Given the description of an element on the screen output the (x, y) to click on. 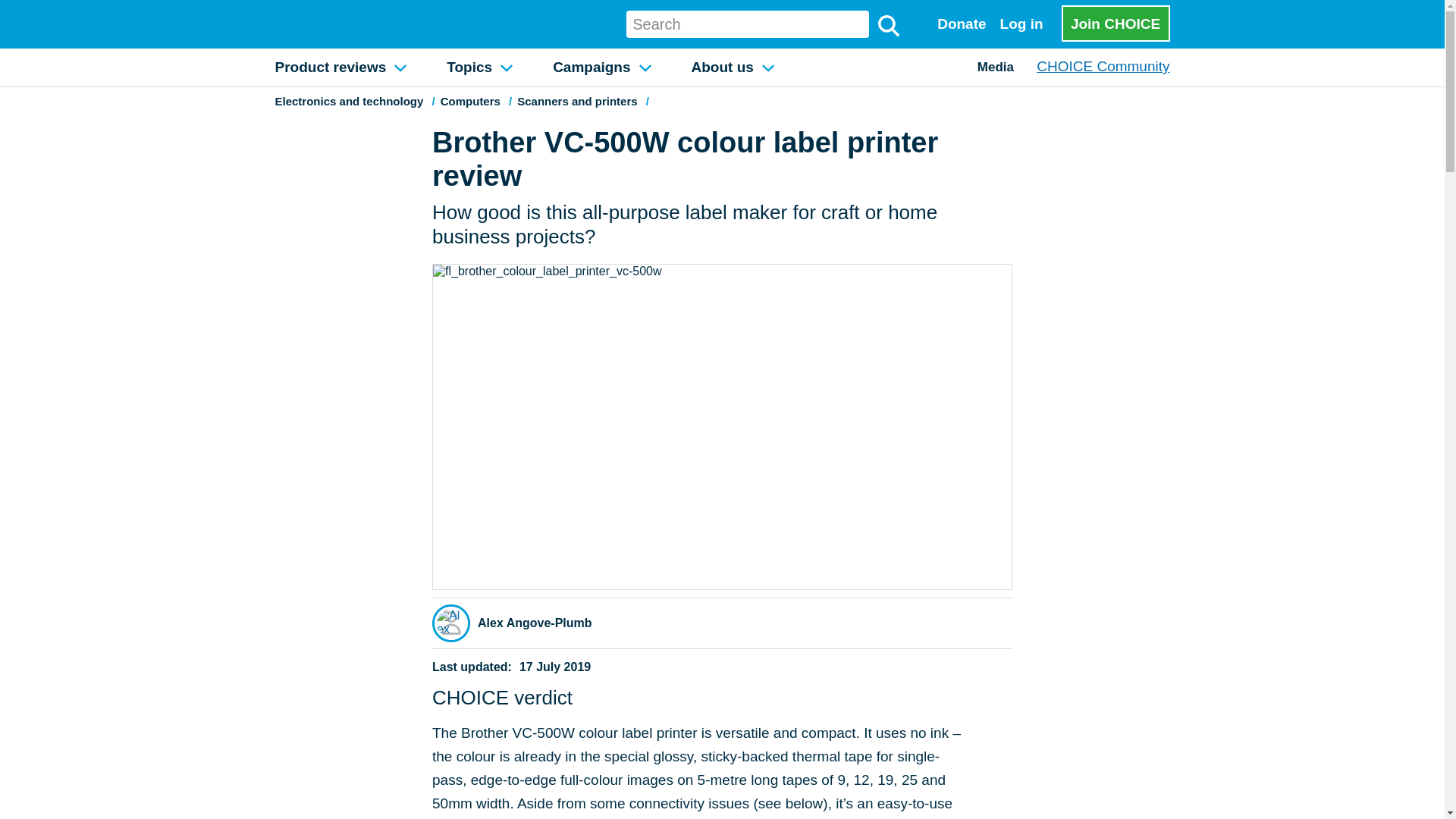
Product reviews (339, 67)
Donate (961, 24)
CHOICE Community (1102, 66)
Topics (478, 67)
Scanners and printers (576, 101)
Electronics and technology (349, 101)
Computers (470, 101)
Log in (1021, 24)
Alex Angove-Plumb (534, 622)
Campaigns (600, 67)
About us (732, 67)
Join CHOICE (1115, 22)
Media (997, 67)
